Given the description of an element on the screen output the (x, y) to click on. 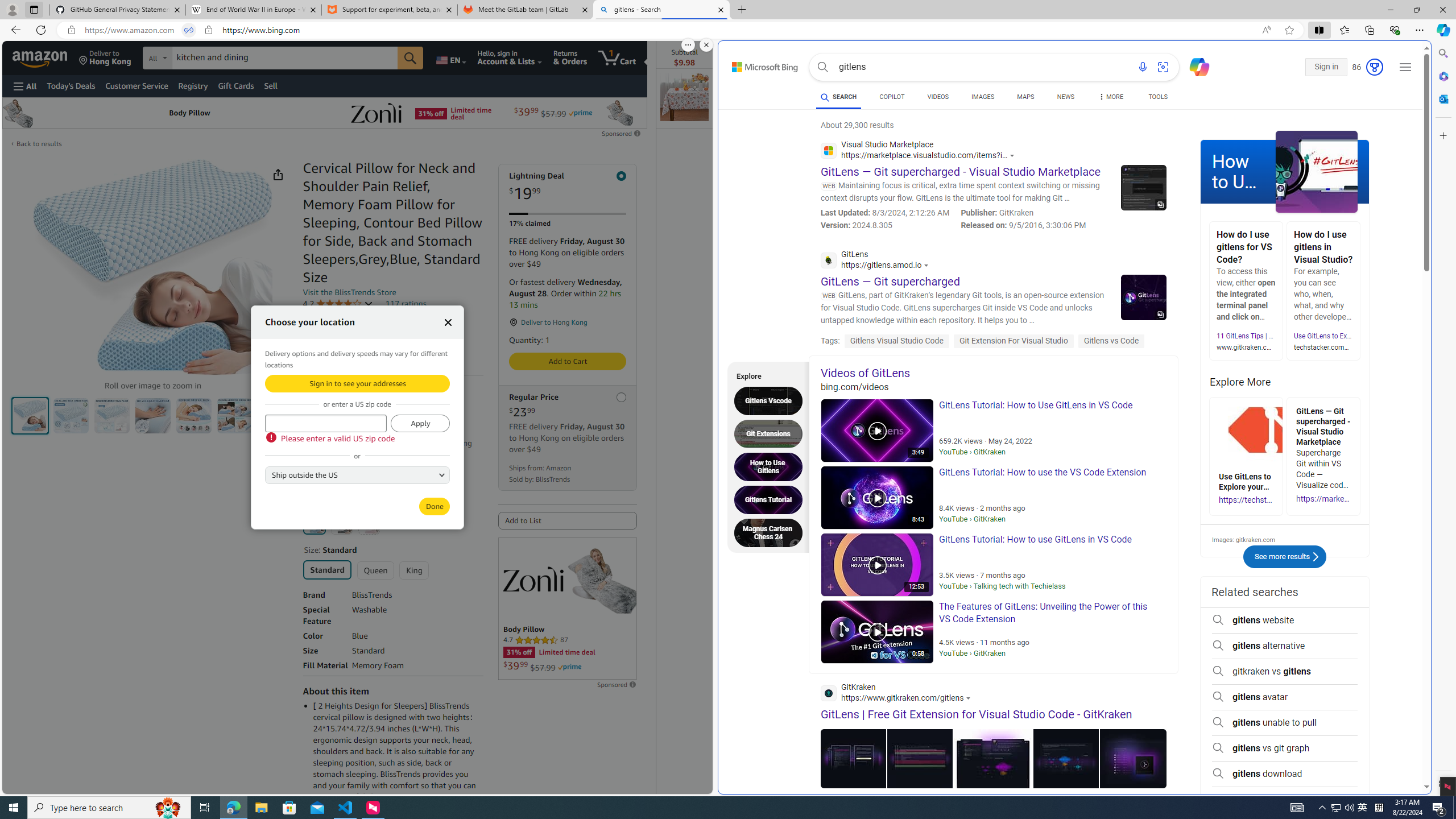
1 item in cart (616, 57)
Terms (373, 481)
SEARCH (838, 96)
GitKraken (898, 693)
Images: gitkraken.com (1283, 539)
Blue (314, 522)
Search Amazon (284, 57)
Apply (419, 423)
